Given the description of an element on the screen output the (x, y) to click on. 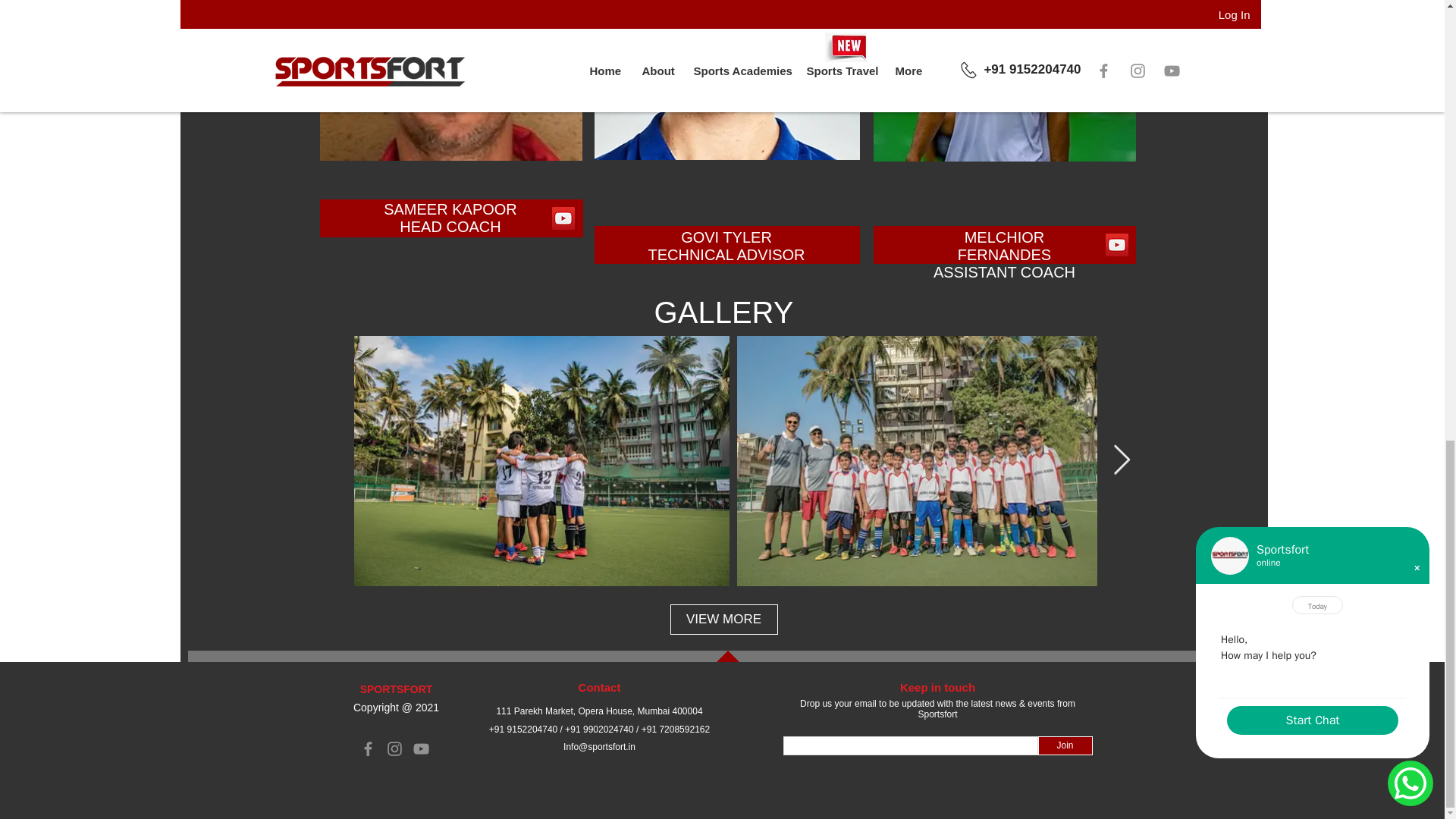
Join (1064, 745)
VIEW MORE (723, 619)
